Given the description of an element on the screen output the (x, y) to click on. 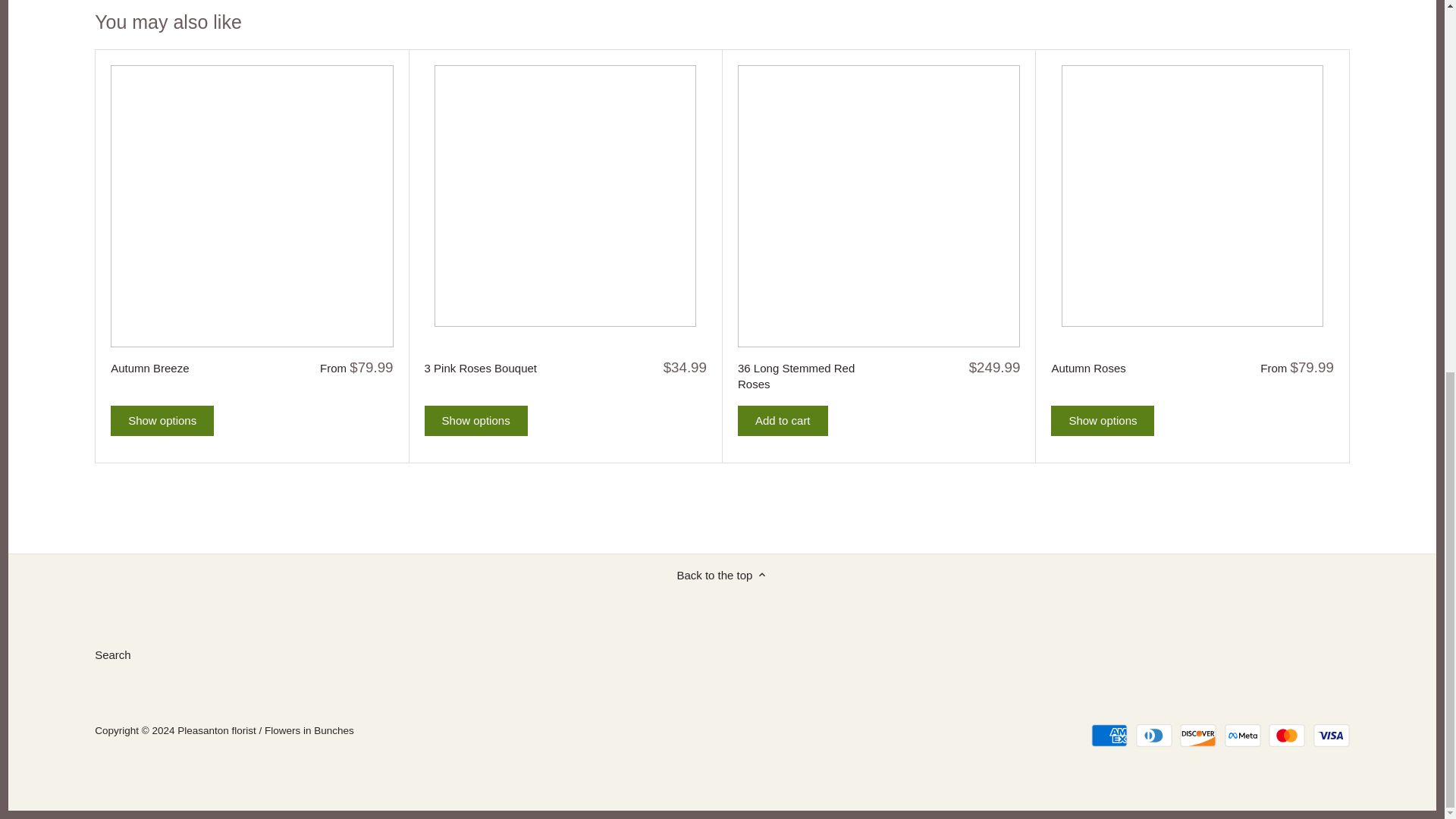
3 Pink Roses Bouquet (495, 366)
Visa (1331, 734)
Autumn Roses (1121, 366)
Show options (162, 420)
36 Long Stemmed Red Roses (808, 375)
Show options (476, 420)
Meta Pay (1242, 734)
Mastercard (1286, 734)
American Express (1108, 734)
Autumn Breeze (180, 366)
